Given the description of an element on the screen output the (x, y) to click on. 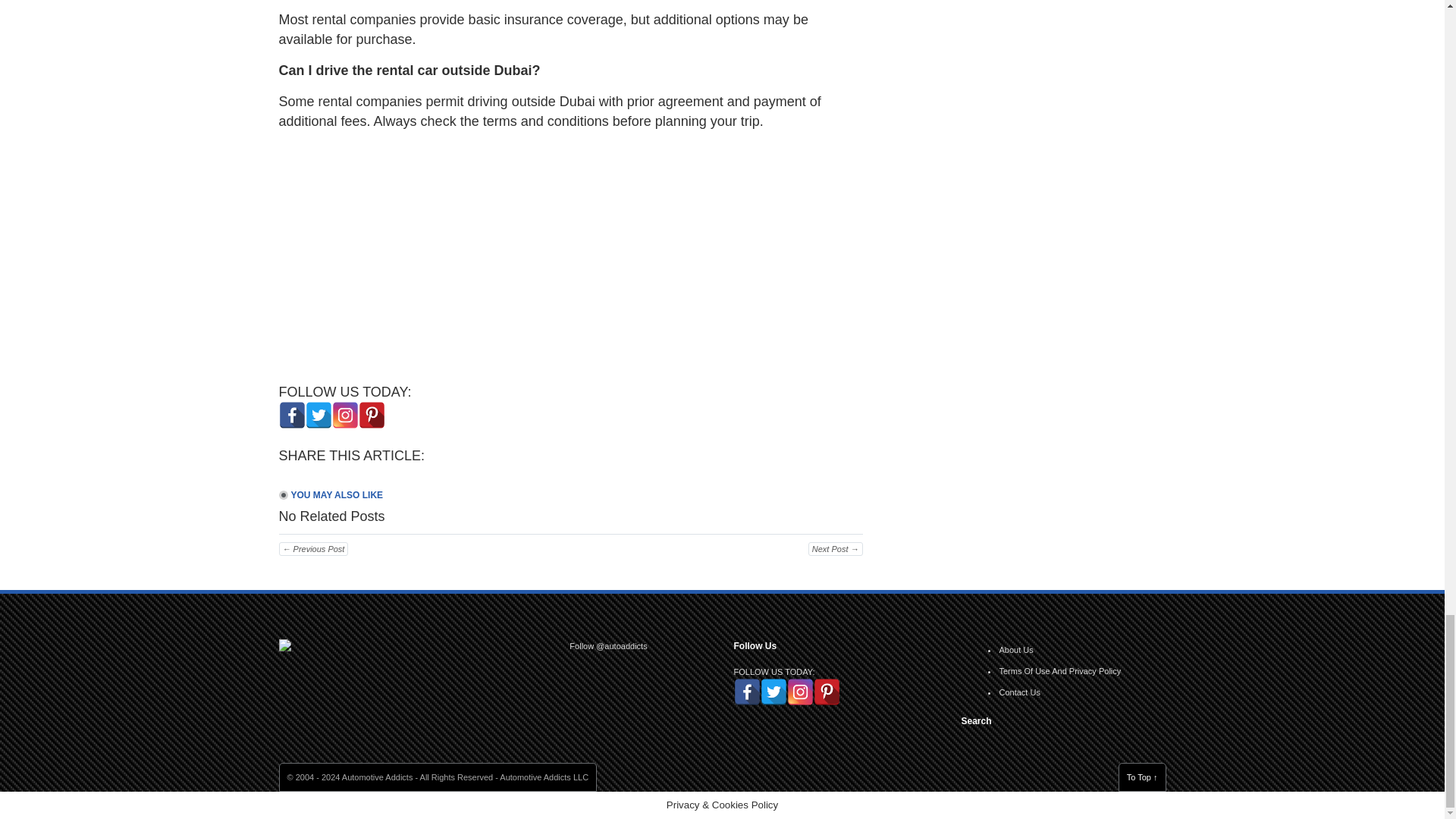
Twitter (317, 415)
Pinterest (371, 415)
Facebook (292, 415)
Instagram (344, 415)
